Given the description of an element on the screen output the (x, y) to click on. 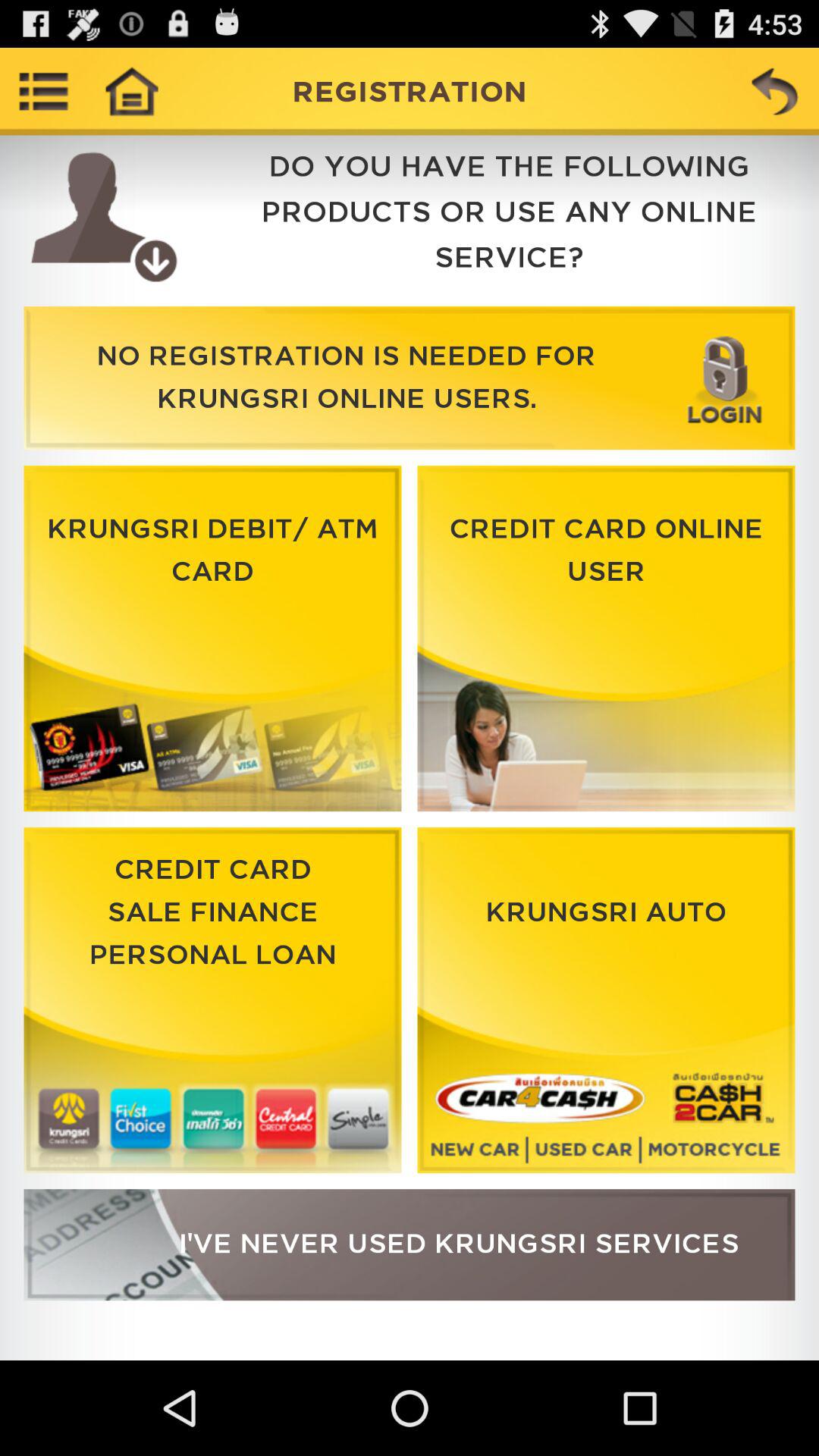
select atm card/ debit card (212, 638)
